Given the description of an element on the screen output the (x, y) to click on. 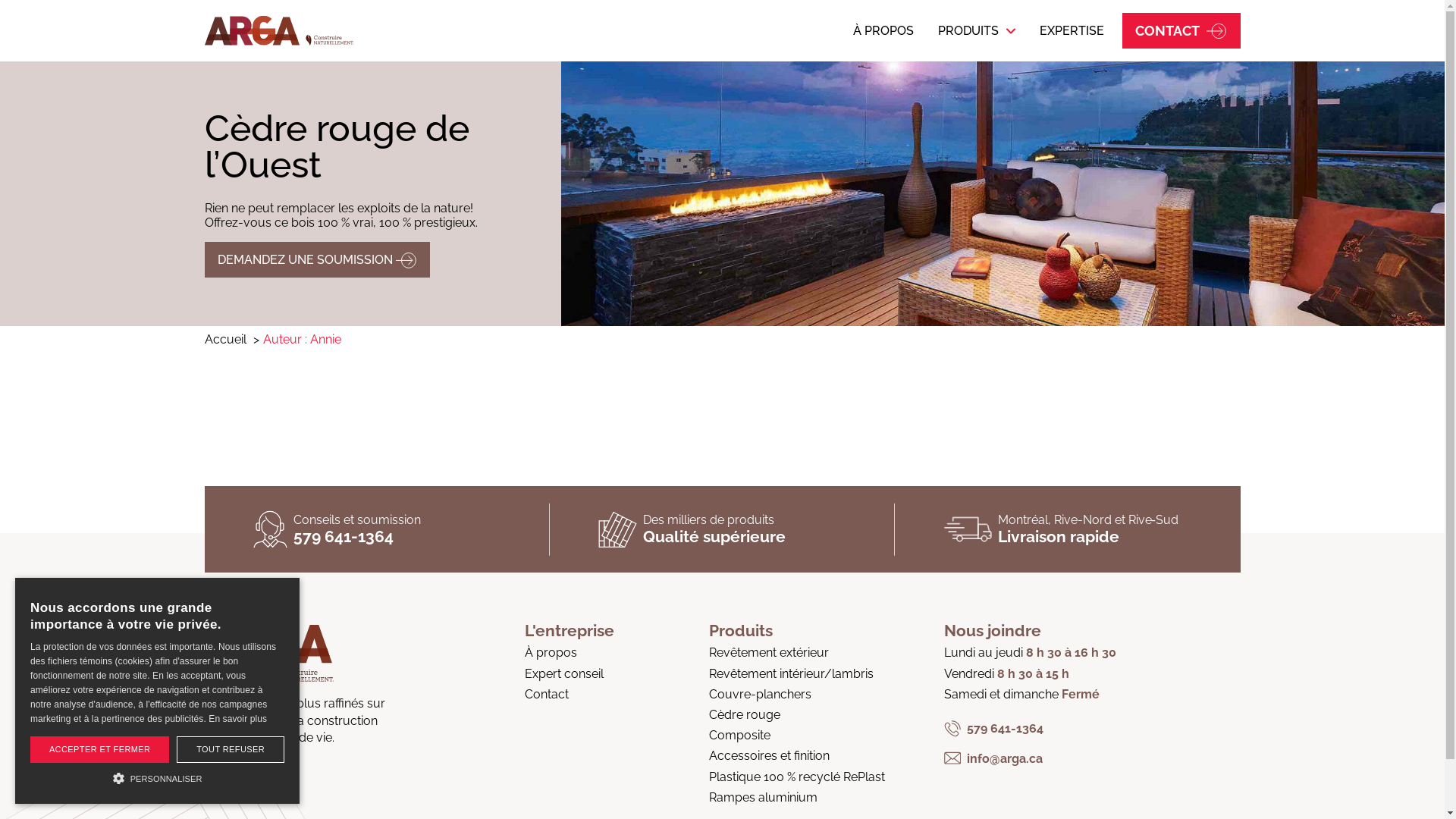
EXPERTISE Element type: text (1071, 30)
Contact Element type: text (569, 694)
579 641-1364 Element type: text (1030, 728)
En savoir plus Element type: text (237, 718)
DEMANDEZ UNE SOUMISSION Element type: text (316, 259)
Composite Element type: text (796, 735)
Couvre-planchers Element type: text (796, 694)
Expert conseil Element type: text (569, 673)
579 641-1364 Element type: text (343, 536)
Rampes aluminium Element type: text (796, 797)
Accessoires et finition Element type: text (796, 755)
Accueil Element type: text (225, 339)
info@arga.ca Element type: text (1030, 758)
CONTACT Element type: text (1181, 29)
